Given the description of an element on the screen output the (x, y) to click on. 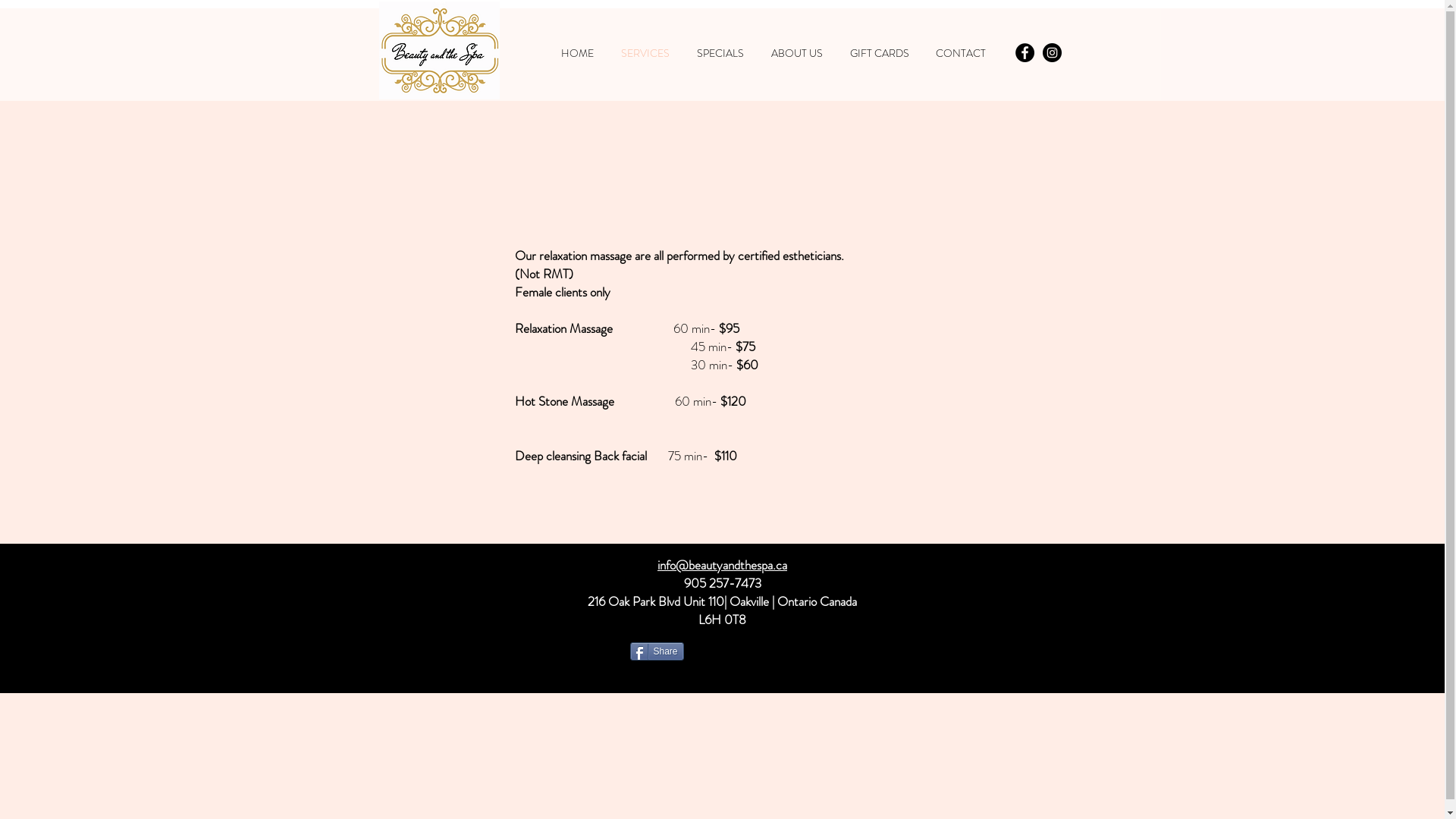
SPECIALS Element type: text (717, 53)
CONTACT Element type: text (958, 53)
info@beautyandthespa.ca Element type: text (722, 564)
HOME Element type: text (574, 53)
ABOUT US Element type: text (794, 53)
SERVICES Element type: text (642, 53)
Share Element type: text (656, 651)
GIFT CARDS Element type: text (877, 53)
